Given the description of an element on the screen output the (x, y) to click on. 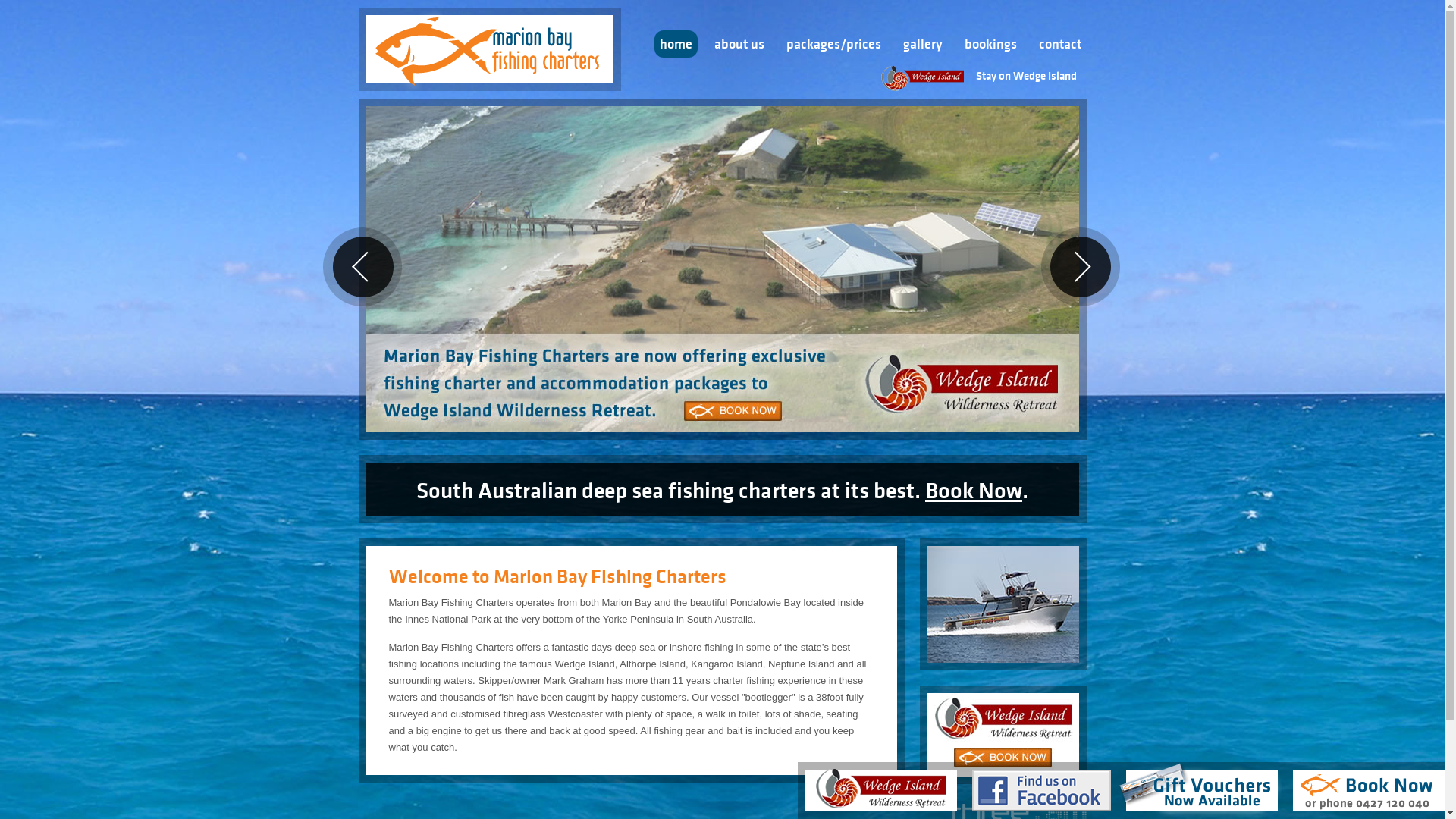
Next Element type: text (1079, 266)
gallery Element type: text (922, 43)
Marion Bay Fishing Charters Element type: text (488, 45)
Book Now Element type: text (973, 490)
Stay on Wedge Island Element type: text (983, 76)
Prev Element type: text (362, 266)
packages/prices Element type: text (833, 43)
bookings Element type: text (989, 43)
about us Element type: text (738, 43)
home Element type: text (674, 43)
contact Element type: text (1058, 43)
